Given the description of an element on the screen output the (x, y) to click on. 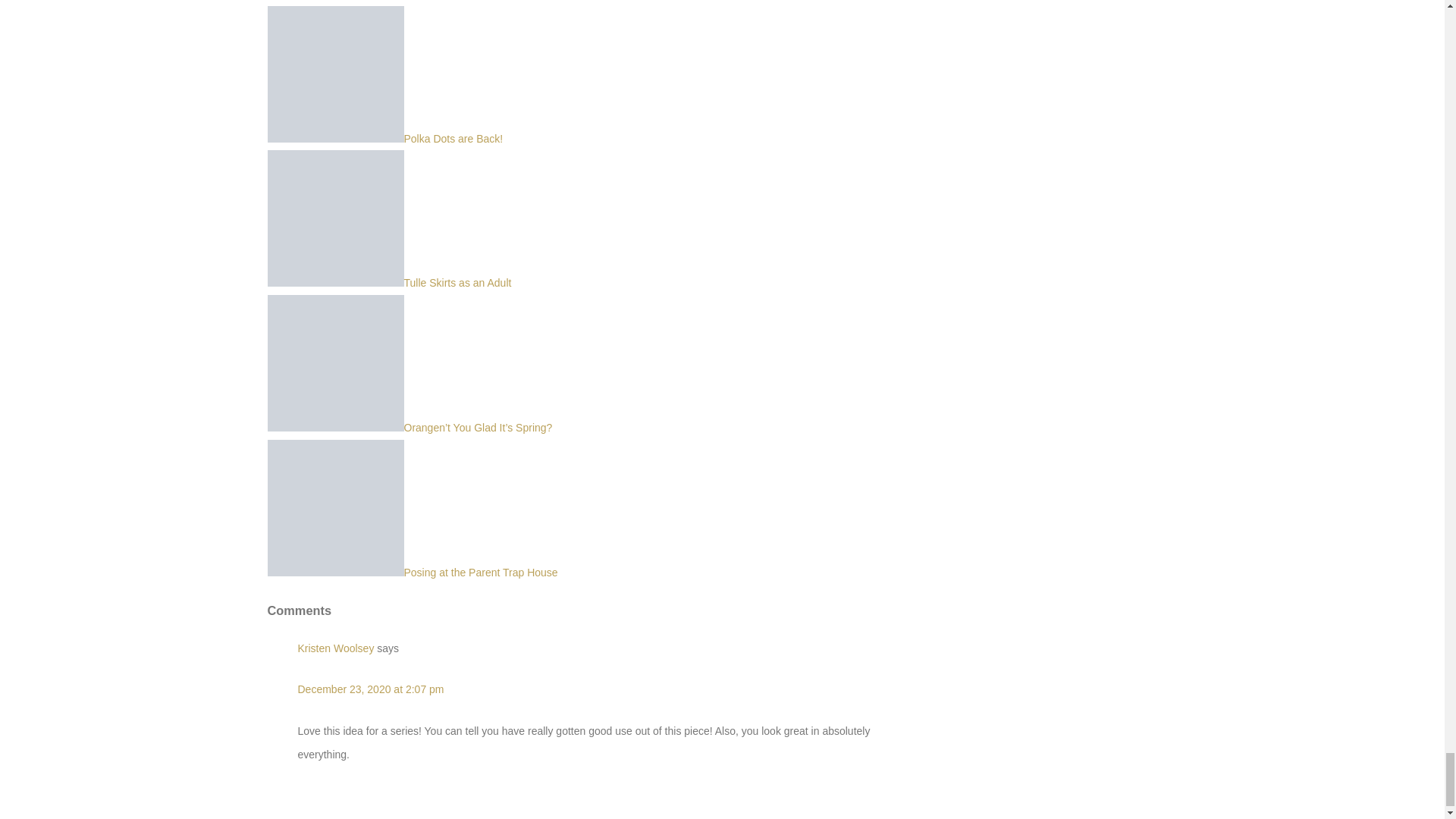
Posing at the Parent Trap House (411, 572)
Tulle Skirts as an Adult (388, 282)
Polka Dots are Back! (384, 138)
